Given the description of an element on the screen output the (x, y) to click on. 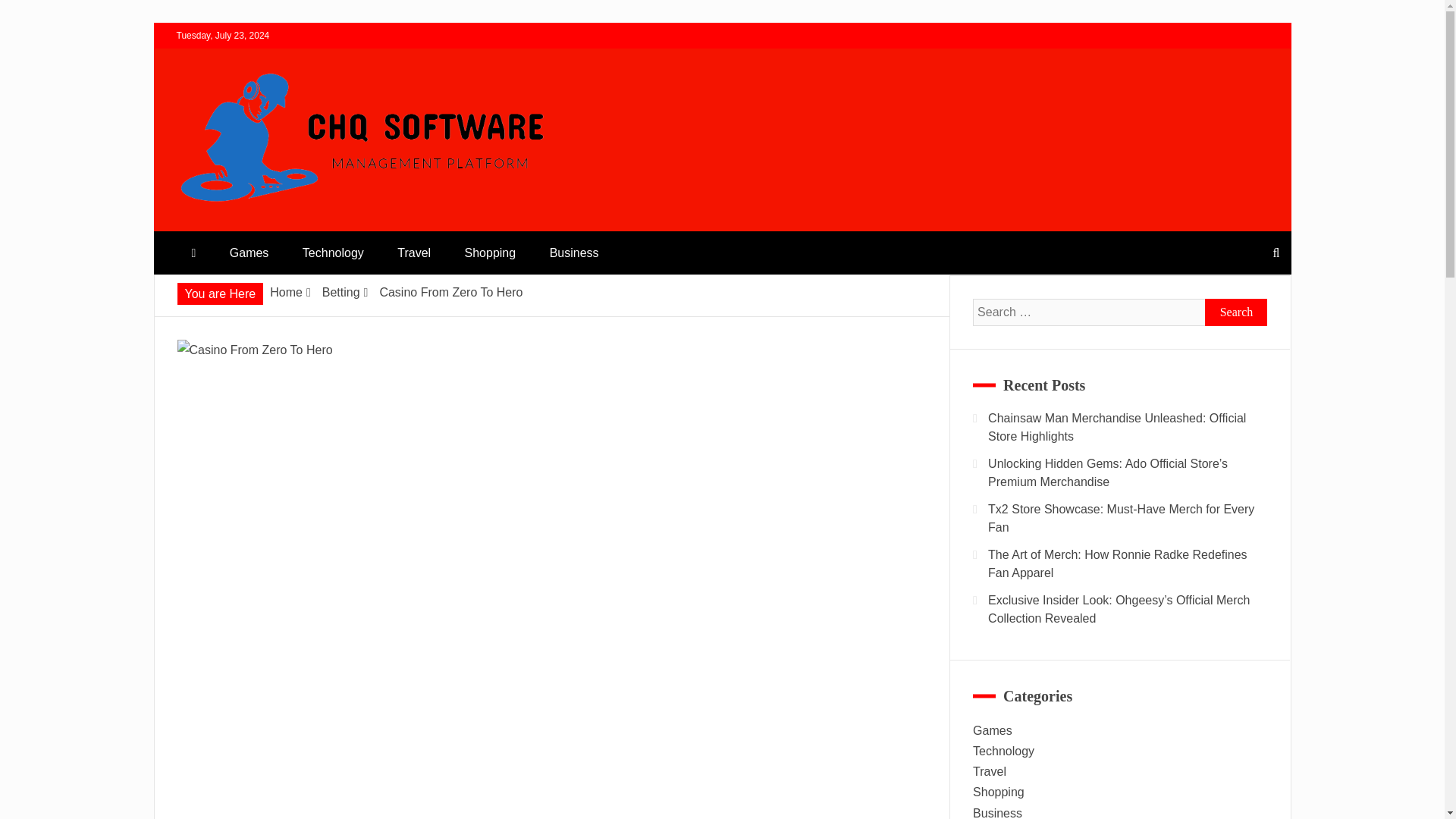
Tx2 Store Showcase: Must-Have Merch for Every Fan (1120, 517)
Chq Software (256, 224)
Business (574, 252)
Search (1235, 311)
Technology (332, 252)
Search (1235, 311)
Search (1235, 311)
Shopping (490, 252)
Home (285, 291)
Search (31, 13)
Travel (413, 252)
Games (248, 252)
Betting (340, 291)
